Given the description of an element on the screen output the (x, y) to click on. 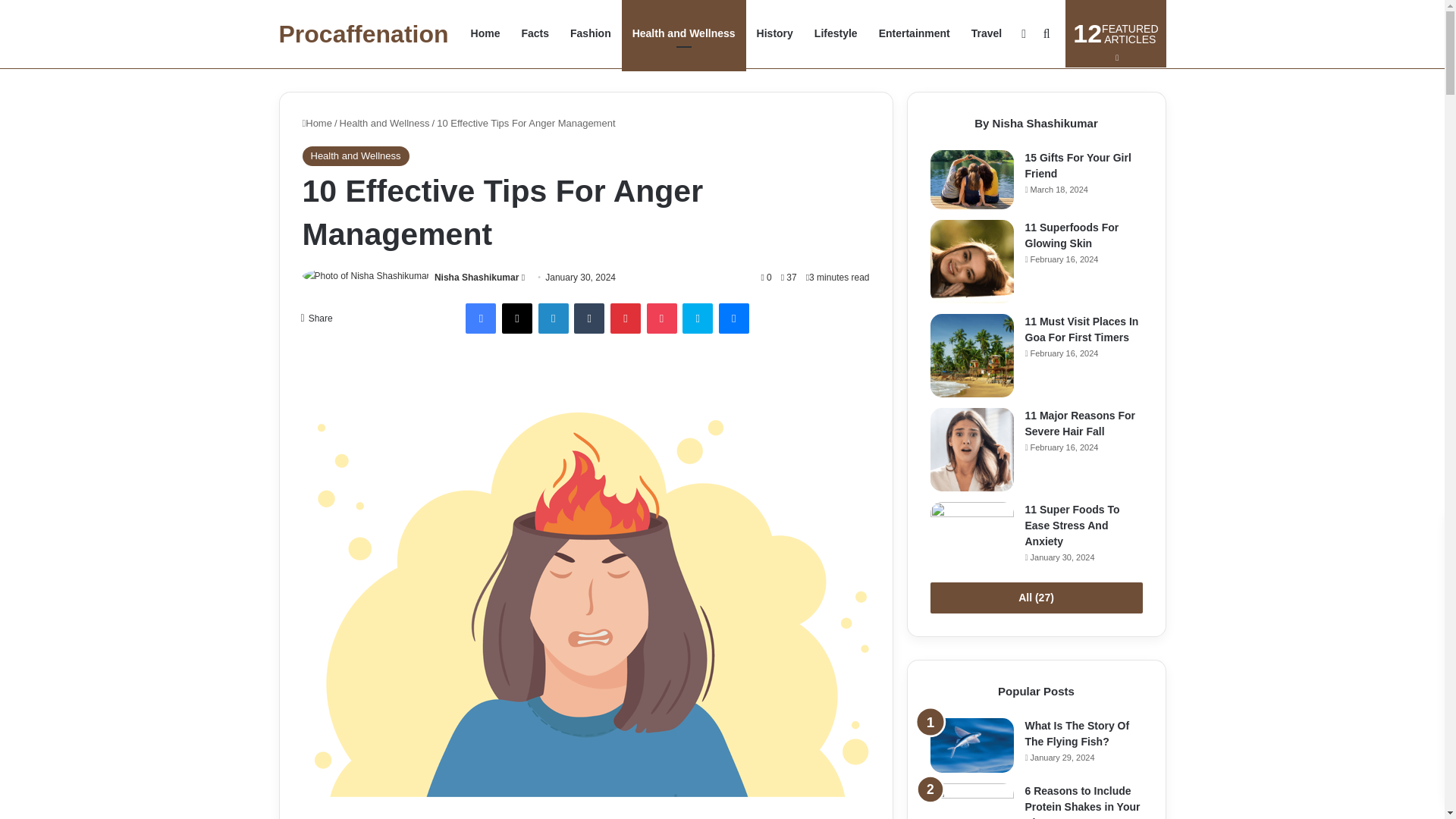
LinkedIn (553, 318)
Health and Wellness (683, 33)
Nisha Shashikumar (475, 276)
Pinterest (625, 318)
Facebook (480, 318)
X (517, 318)
Tumblr (588, 318)
Lifestyle (1115, 33)
Fashion (835, 33)
Entertainment (590, 33)
Procaffenation (913, 33)
Procaffenation (363, 34)
